Given the description of an element on the screen output the (x, y) to click on. 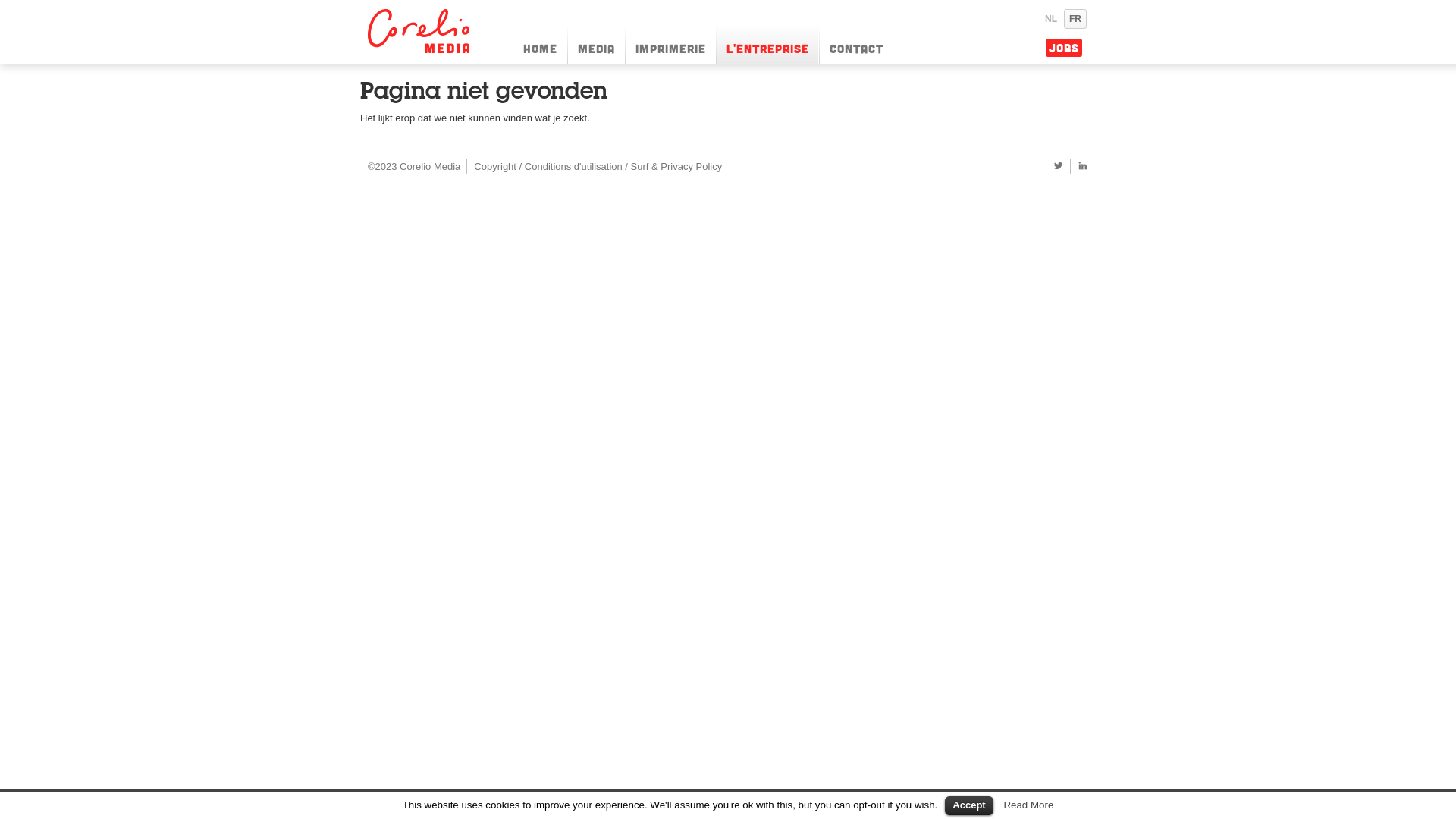
IMPRIMERIE Element type: text (670, 44)
JOBS Element type: text (1063, 47)
Copyright / Conditions d'utilisation / Surf & Privacy Policy Element type: text (597, 165)
Accept Element type: text (968, 805)
Read More Element type: text (1028, 805)
HOME Element type: text (540, 44)
L'ENTREPRISE Element type: text (767, 44)
Corelio Media Element type: hover (420, 31)
NL Element type: text (1050, 18)
FR Element type: text (1074, 18)
MEDIA Element type: text (596, 44)
CONTACT Element type: text (856, 44)
